Given the description of an element on the screen output the (x, y) to click on. 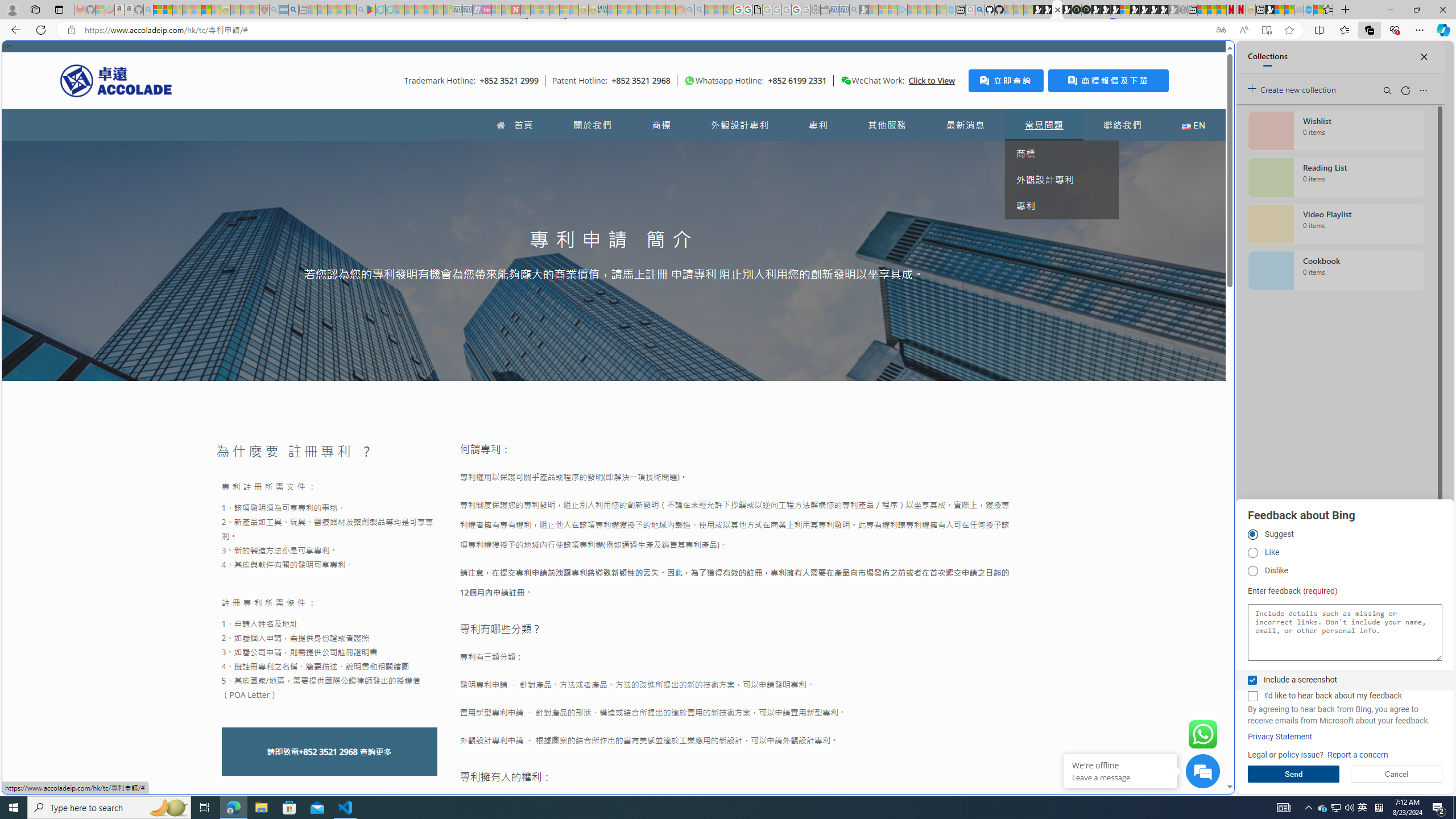
Kinda Frugal - MSN - Sleeping (651, 9)
MSN (1118, 536)
Wallet - Sleeping (824, 9)
Bluey: Let's Play! - Apps on Google Play (370, 9)
Microsoft Start Gaming - Sleeping (863, 9)
Cancel (1396, 773)
World - MSN (727, 389)
Cheap Car Rentals - Save70.com - Sleeping (844, 9)
Close split screen (1208, 57)
